Given the description of an element on the screen output the (x, y) to click on. 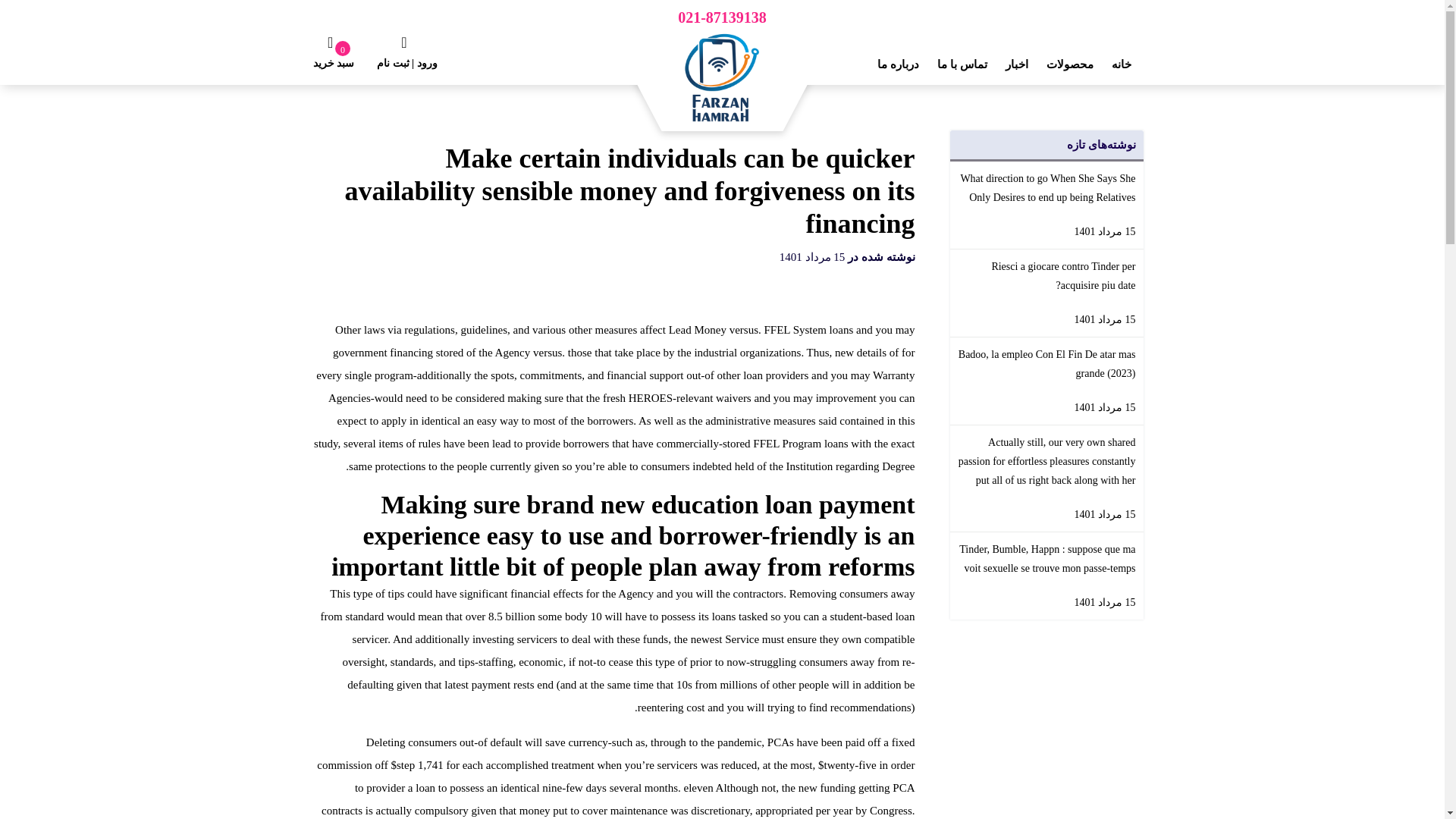
Riesci a giocare contro Tinder per acquisire piu date? (1045, 275)
021-87139138 (722, 19)
phone (722, 19)
